Given the description of an element on the screen output the (x, y) to click on. 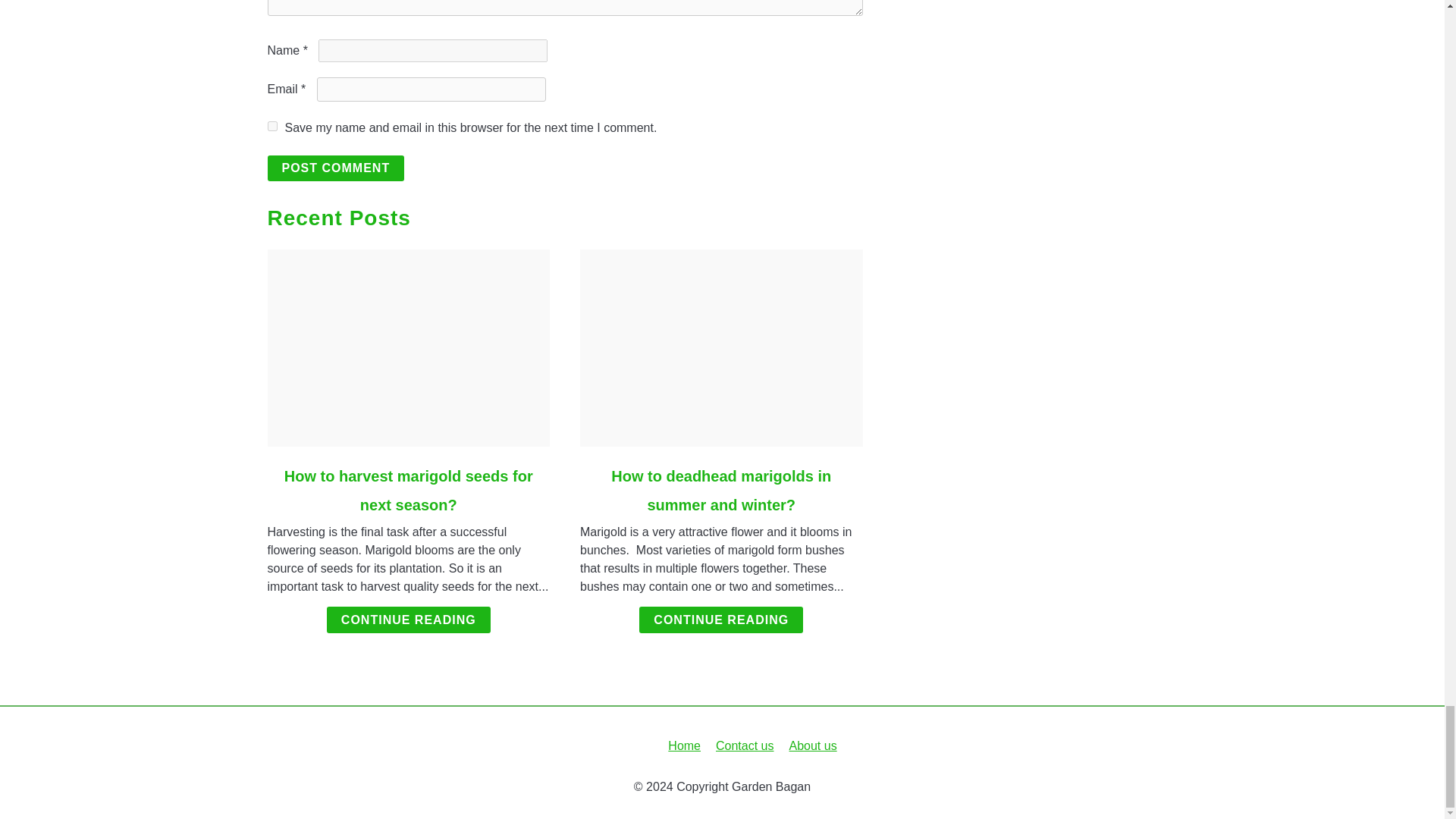
CONTINUE READING (721, 619)
Home (684, 745)
How to deadhead marigolds in summer and winter? (721, 490)
CONTINUE READING (408, 619)
yes (271, 126)
Post Comment (335, 167)
How to harvest marigold seeds for next season? (407, 490)
link to How to deadhead marigolds in summer and winter? (721, 347)
Post Comment (335, 167)
link to How to harvest marigold seeds for next season? (408, 347)
